Given the description of an element on the screen output the (x, y) to click on. 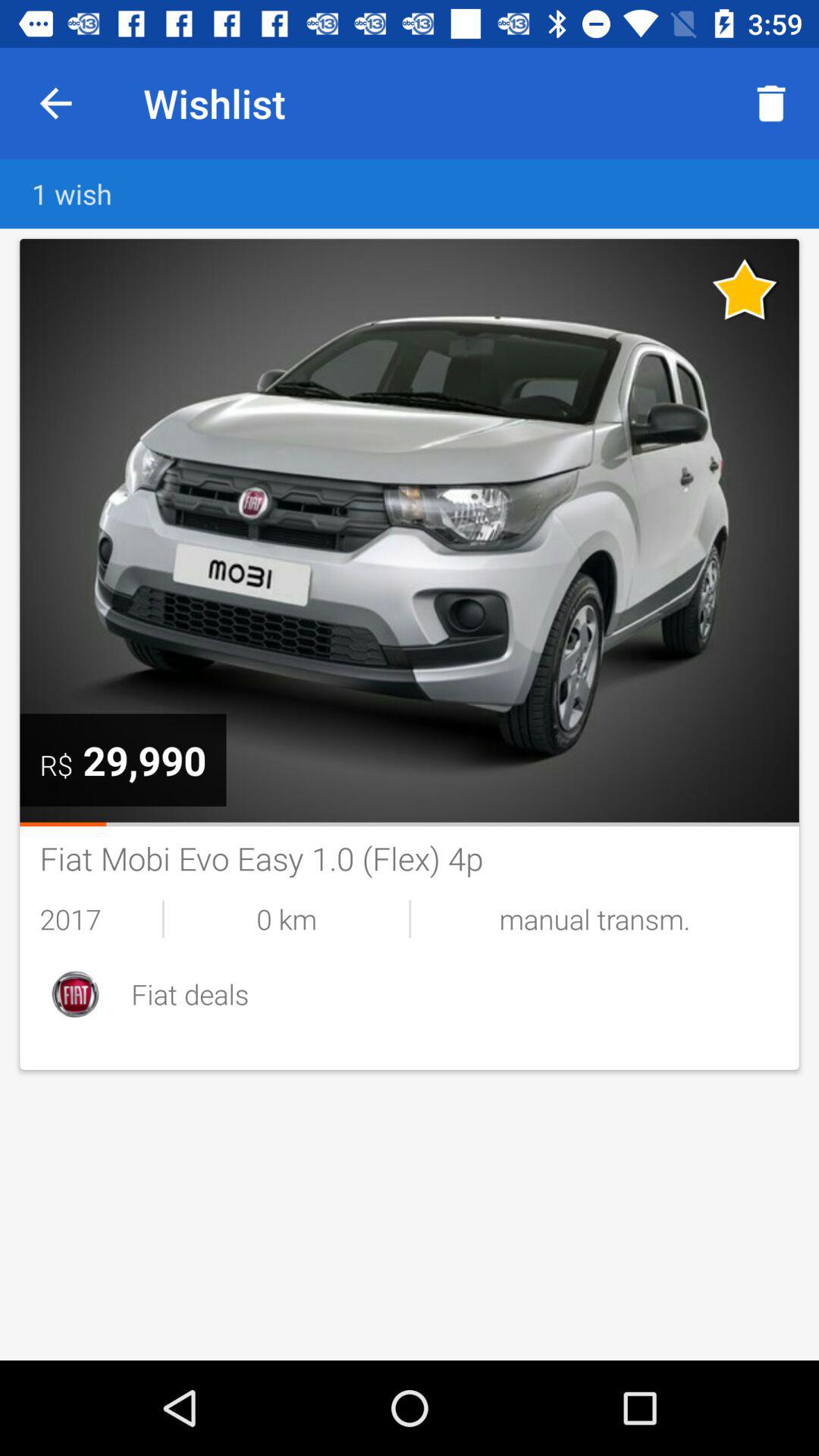
click the item below 1 wish icon (409, 530)
